Given the description of an element on the screen output the (x, y) to click on. 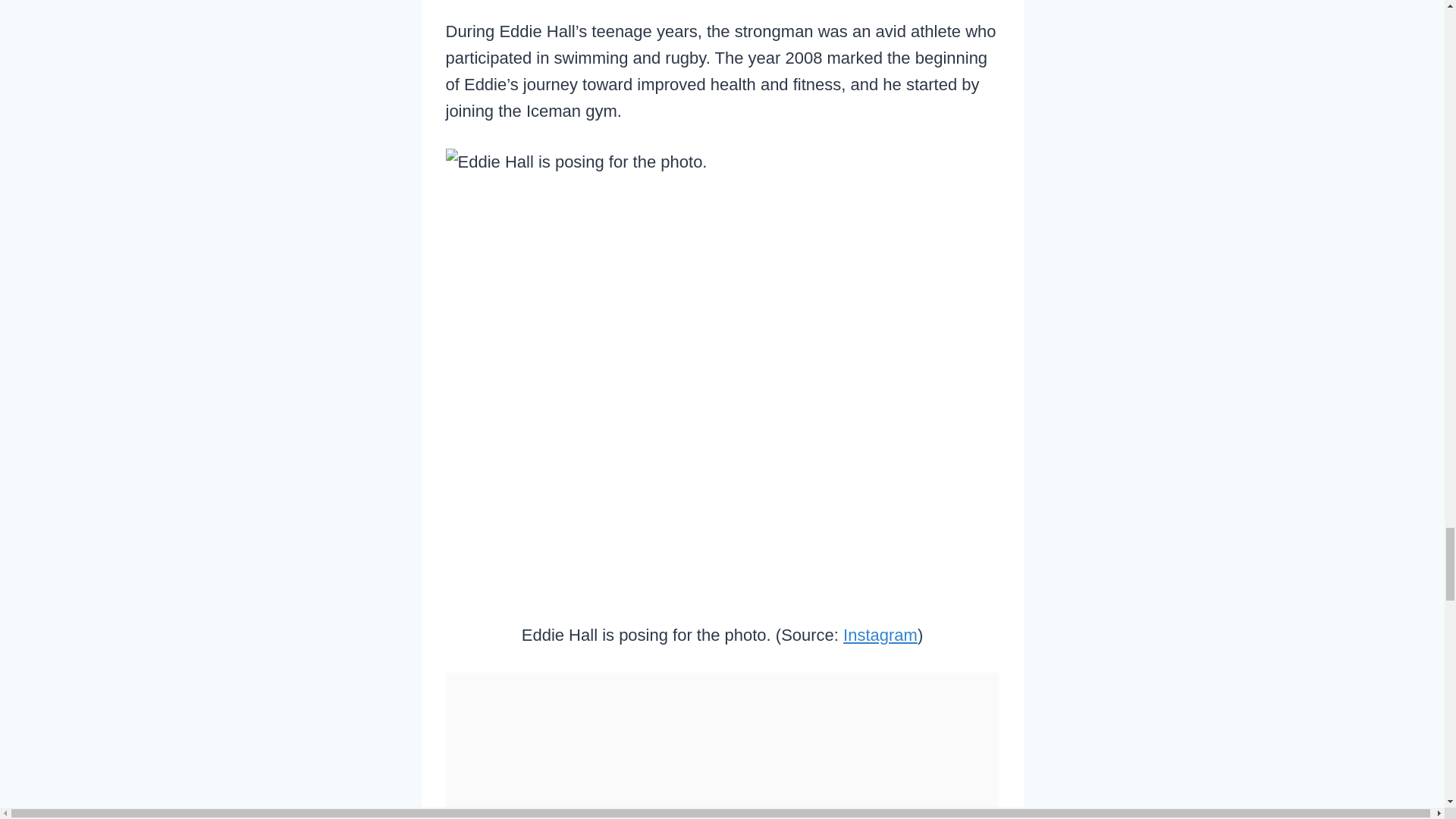
Instagram (880, 634)
